Given the description of an element on the screen output the (x, y) to click on. 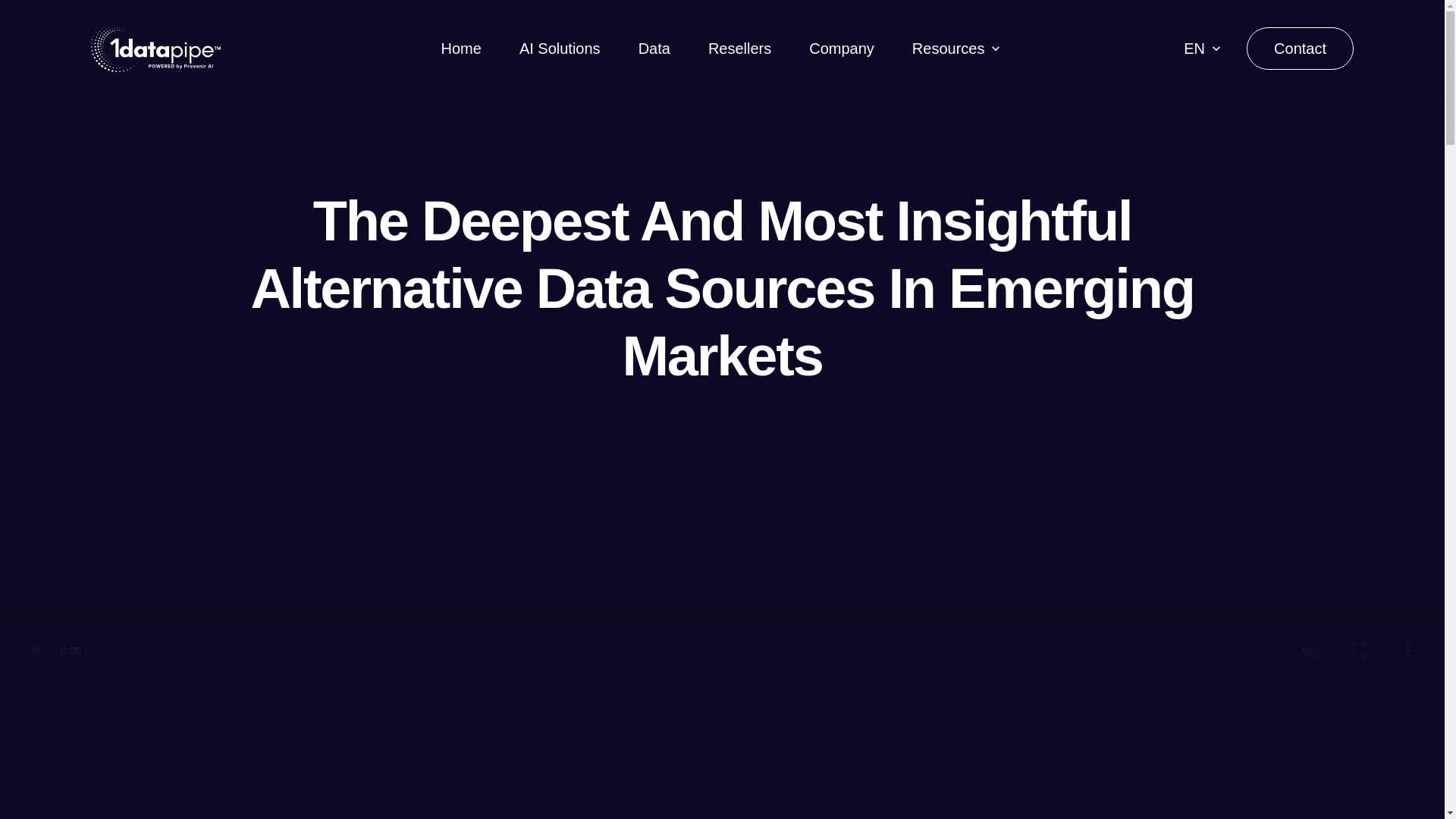
Resellers (739, 48)
AI Solutions (559, 48)
Resources (948, 47)
Company (842, 48)
EN (1194, 47)
Home (461, 48)
Contact (1300, 48)
Data (654, 48)
